Given the description of an element on the screen output the (x, y) to click on. 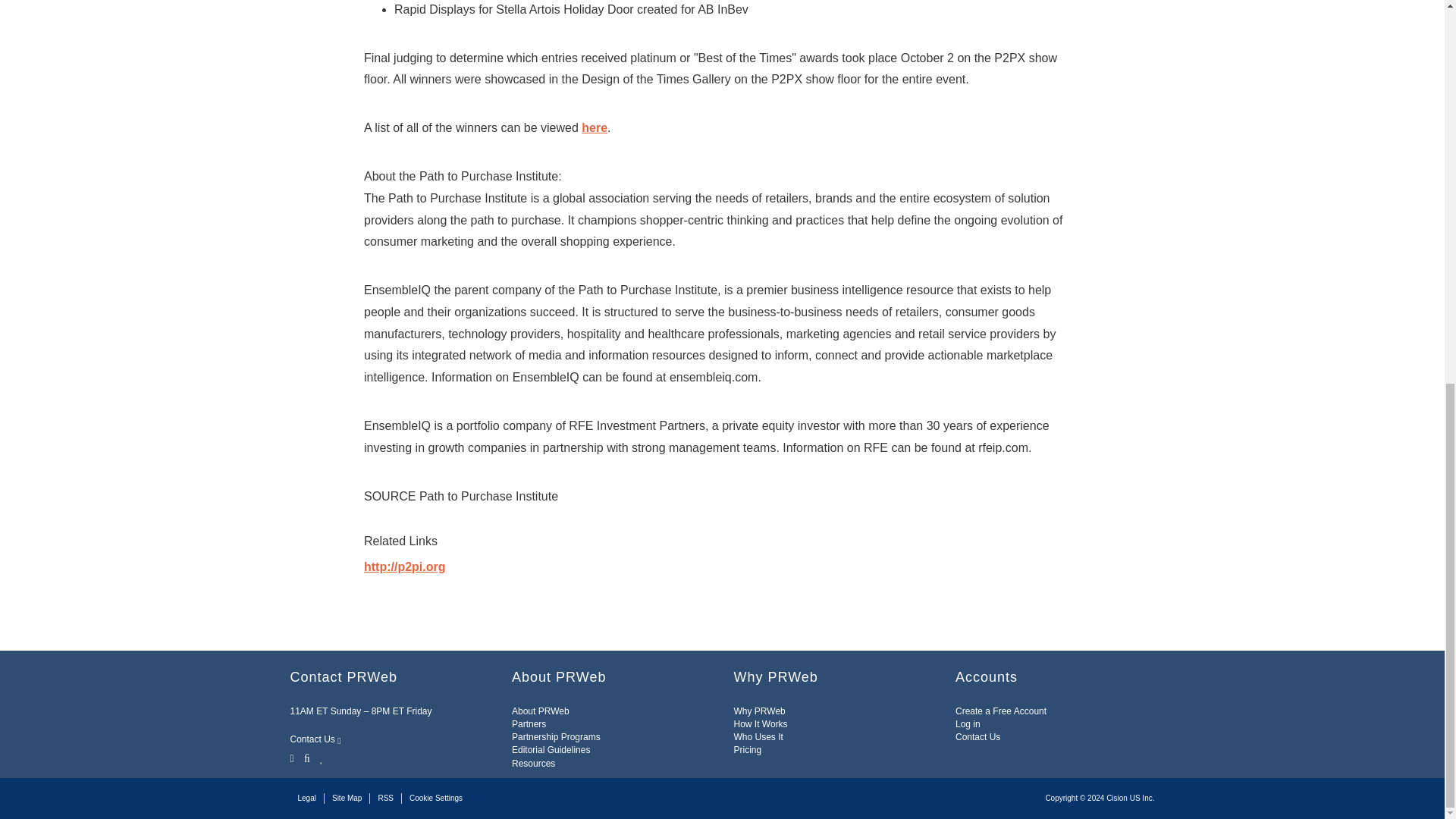
Partnership Programs (555, 737)
About PRWeb (540, 710)
Editorial Guidelines (550, 749)
Why PRWeb (759, 710)
Resources (533, 763)
Facebook (306, 757)
Partners (529, 724)
